Given the description of an element on the screen output the (x, y) to click on. 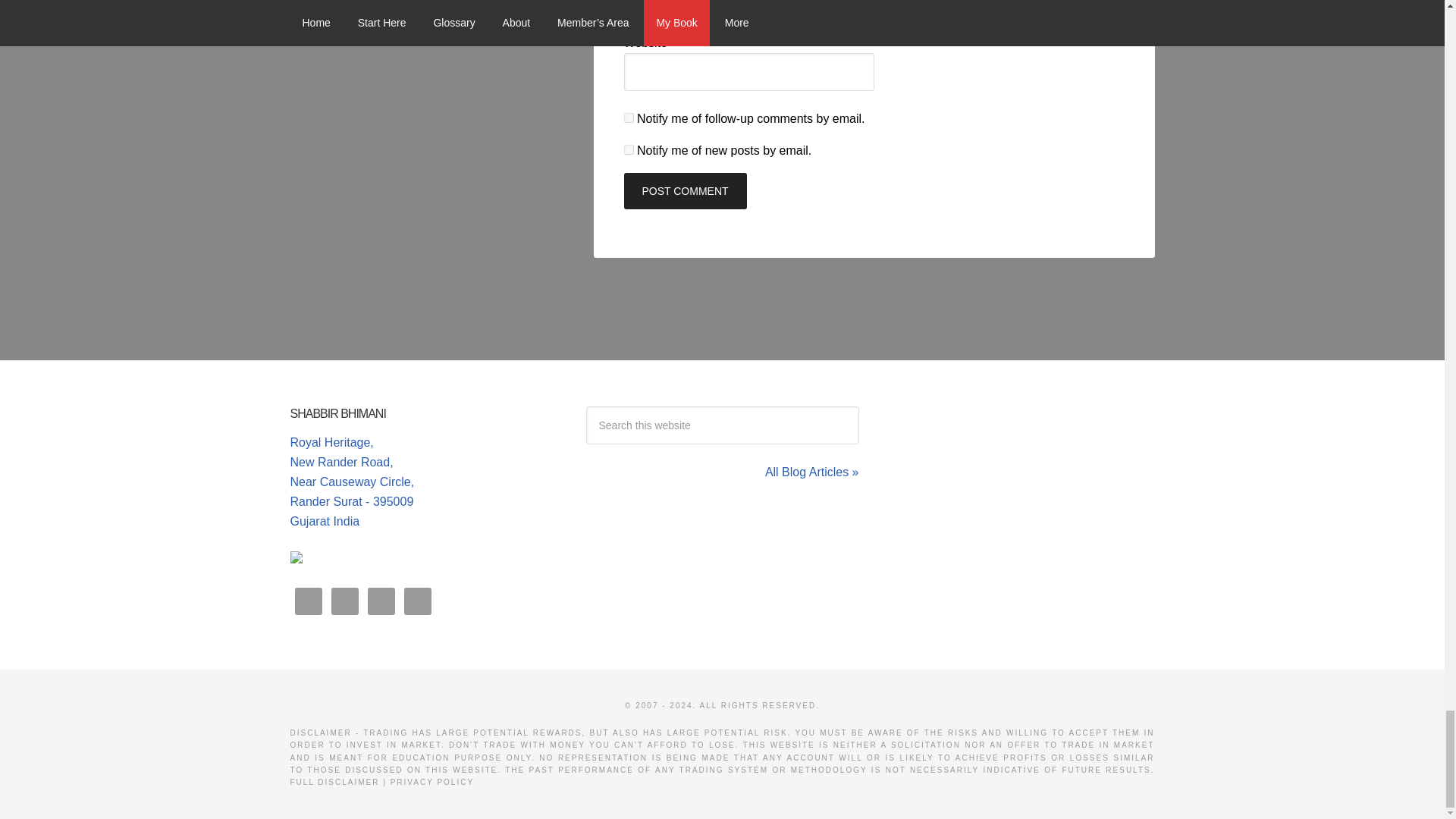
subscribe (628, 117)
subscribe (628, 149)
Post Comment (684, 190)
